Given the description of an element on the screen output the (x, y) to click on. 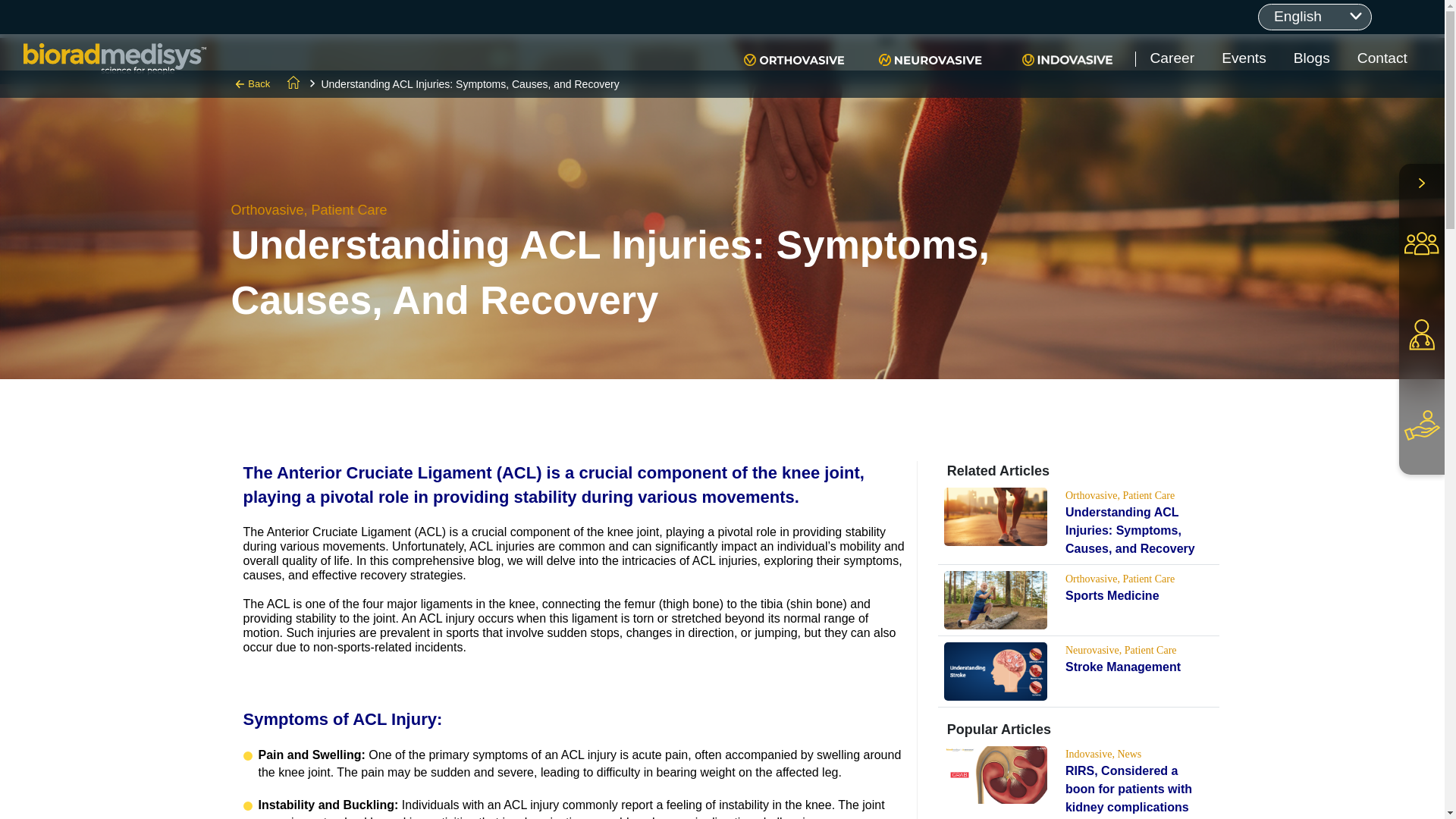
Career (1171, 58)
Sports Medicine (1111, 594)
Contact (1381, 58)
Blogs (1312, 58)
Understanding ACL Injuries: Symptoms, Causes, and Recovery (1130, 530)
Stroke Management (1122, 666)
Back (253, 84)
Events (1243, 58)
